Given the description of an element on the screen output the (x, y) to click on. 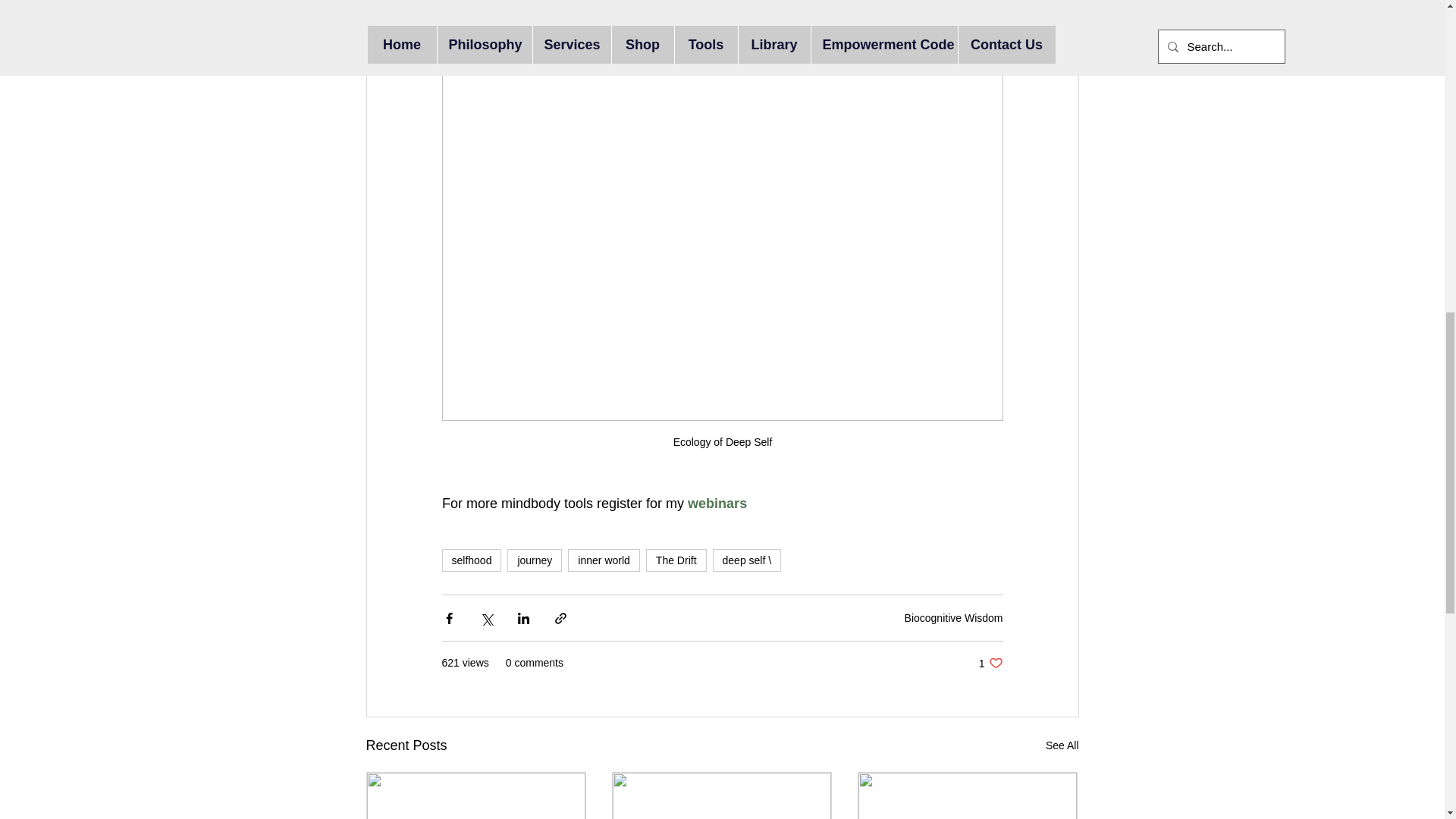
Biocognitive Wisdom (953, 616)
inner world (990, 663)
See All (603, 559)
journey (1061, 745)
Ecology of Deep Self (534, 559)
webinars (676, 559)
selfhood (716, 503)
